Given the description of an element on the screen output the (x, y) to click on. 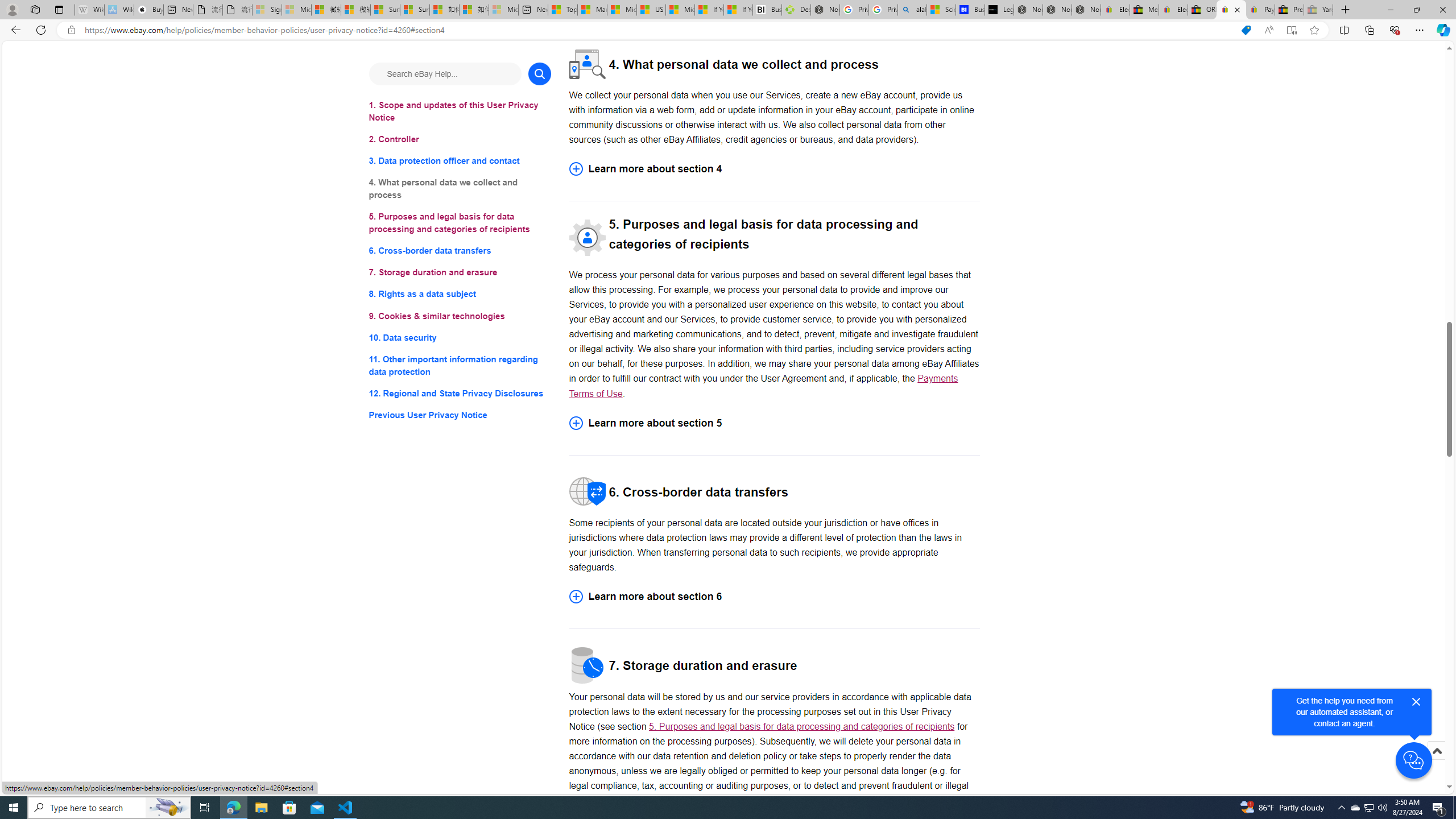
6. Cross-border data transfers (459, 250)
Marine life - MSN (591, 9)
7. Storage duration and erasure (459, 272)
2. Controller (459, 138)
1. Scope and updates of this User Privacy Notice (459, 111)
7. Storage duration and erasure (459, 272)
Sign in to your Microsoft account - Sleeping (266, 9)
Top Stories - MSN (562, 9)
